Given the description of an element on the screen output the (x, y) to click on. 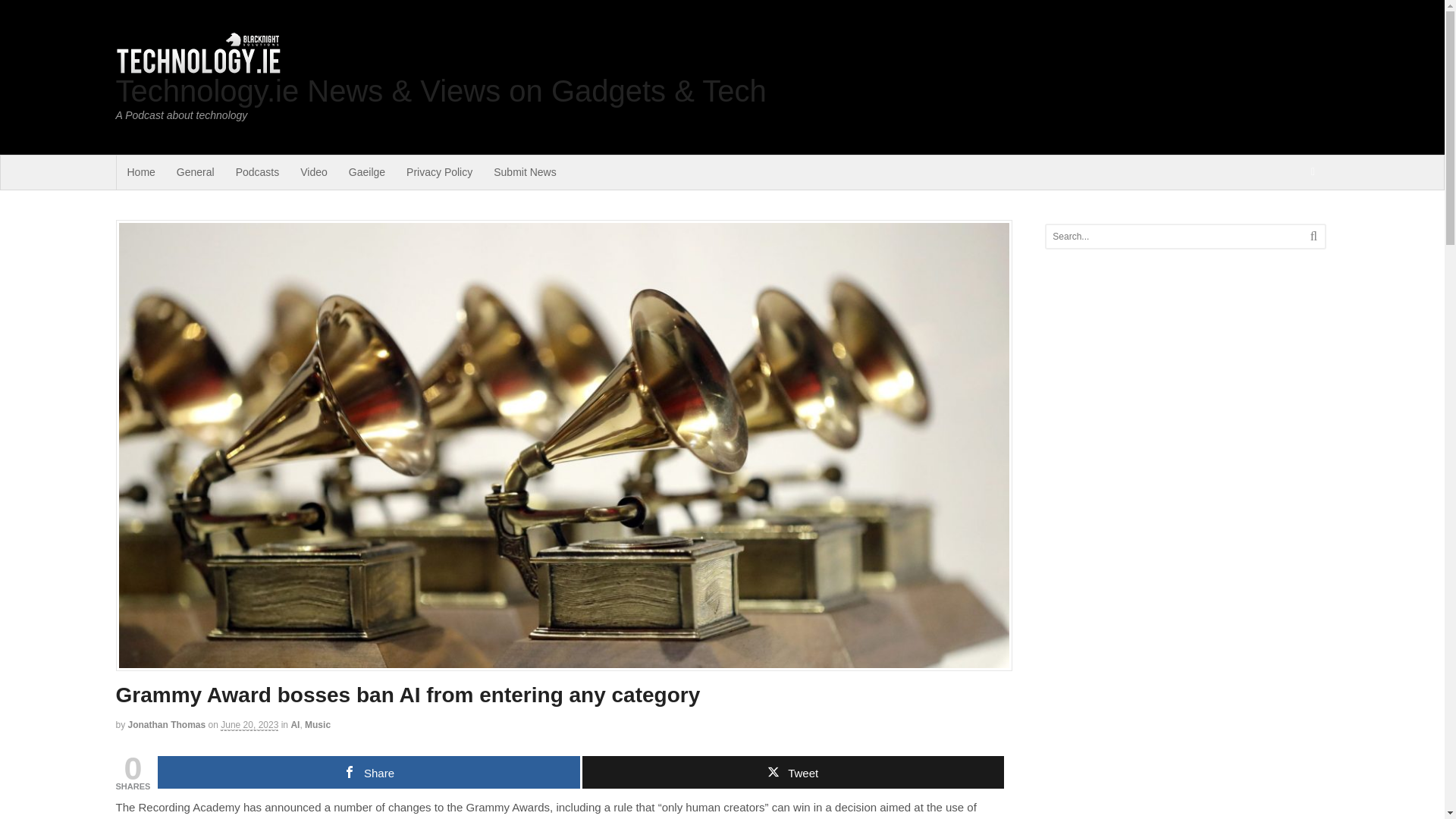
Tweet (793, 771)
Podcasts (257, 172)
Home (140, 172)
Submit News (524, 172)
Posts by Jonathan Thomas (167, 724)
Share (368, 771)
Jonathan Thomas (167, 724)
A Podcast about technology (197, 67)
View all items in Music (317, 724)
Music (317, 724)
Search... (1170, 236)
Video (313, 172)
Privacy Policy (439, 172)
